Given the description of an element on the screen output the (x, y) to click on. 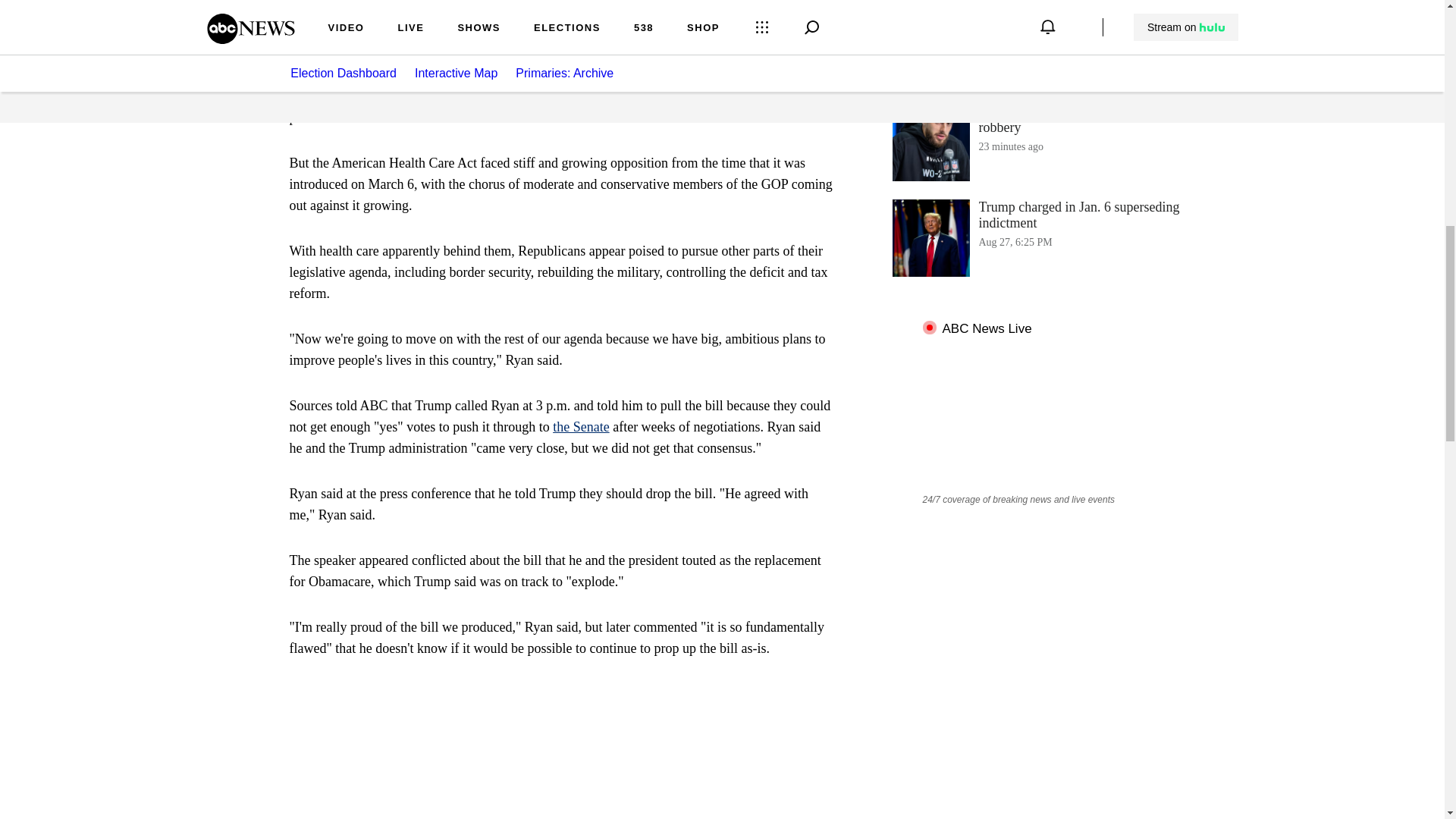
Affordable Care Act (673, 74)
the Senate (1043, 46)
